Given the description of an element on the screen output the (x, y) to click on. 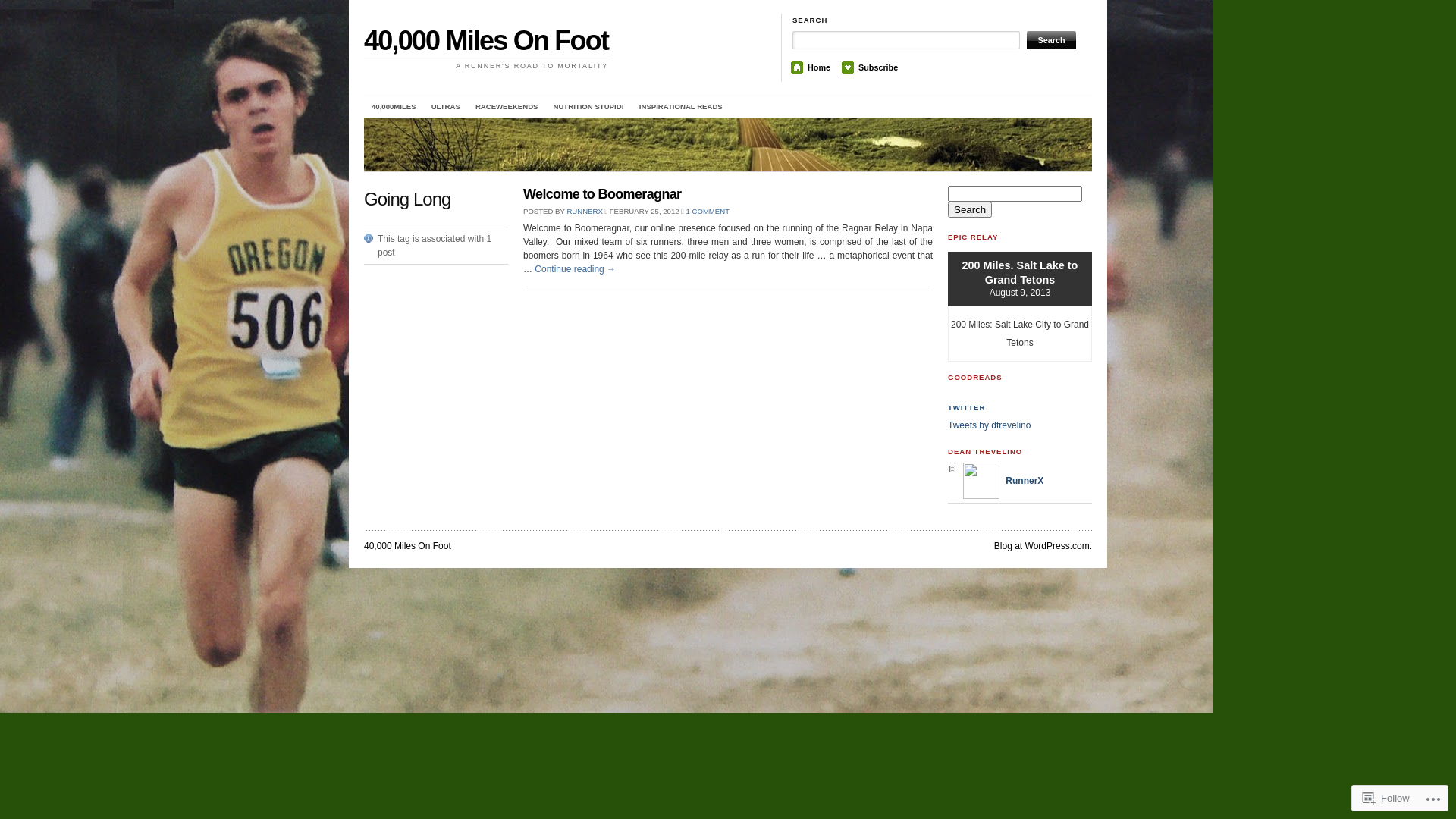
40,000MILES Element type: text (393, 106)
Home Element type: text (818, 67)
RUNNERX Element type: text (584, 211)
Search Element type: text (969, 209)
NUTRITION STUPID! Element type: text (588, 106)
1 COMMENT Element type: text (707, 211)
RACEWEEKENDS Element type: text (506, 106)
RunnerX Element type: text (1003, 480)
Blog at WordPress.com. Element type: text (1043, 545)
Follow Element type: text (1385, 797)
Search Element type: text (1051, 40)
Subscribe Element type: text (877, 67)
ULTRAS Element type: text (445, 106)
Tweets by dtrevelino Element type: text (988, 425)
Welcome to Boomeragnar Element type: text (601, 193)
40,000 Miles On Foot Element type: text (486, 40)
INSPIRATIONAL READS Element type: text (680, 106)
TWITTER Element type: text (966, 407)
40,000 Miles On Foot Element type: text (407, 545)
